Given the description of an element on the screen output the (x, y) to click on. 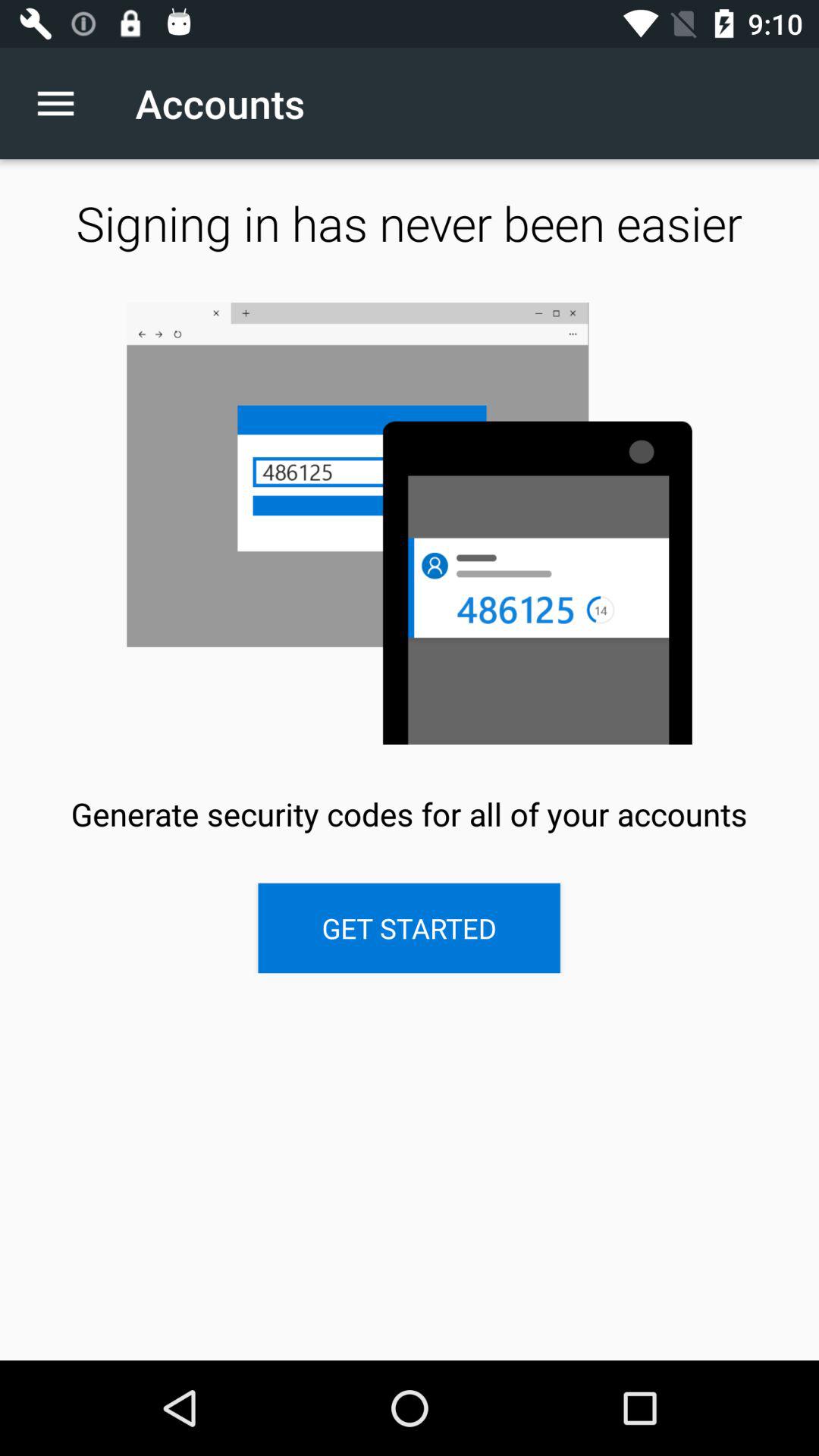
open the get started item (409, 928)
